Given the description of an element on the screen output the (x, y) to click on. 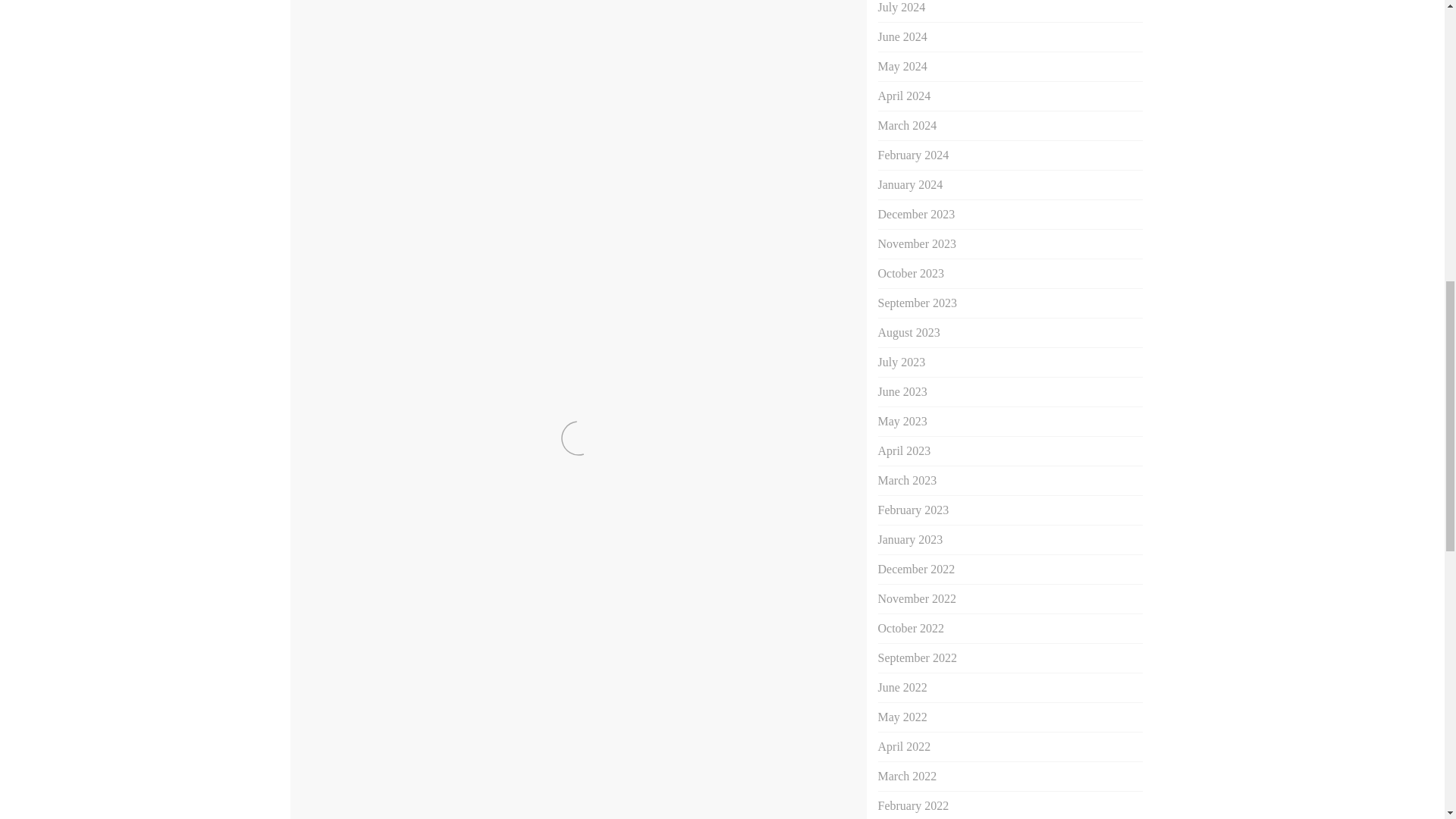
August 2023 (908, 332)
admin (428, 466)
May 2023 (902, 420)
February 2024 (913, 154)
February 2023 (913, 509)
Info (477, 466)
July 2024 (901, 6)
June 2022 (902, 686)
April 2023 (904, 450)
December 2023 (916, 214)
March 2023 (907, 480)
September 2022 (916, 657)
September 2023 (916, 302)
January 2024 (910, 184)
SBOBET Review (812, 543)
